Given the description of an element on the screen output the (x, y) to click on. 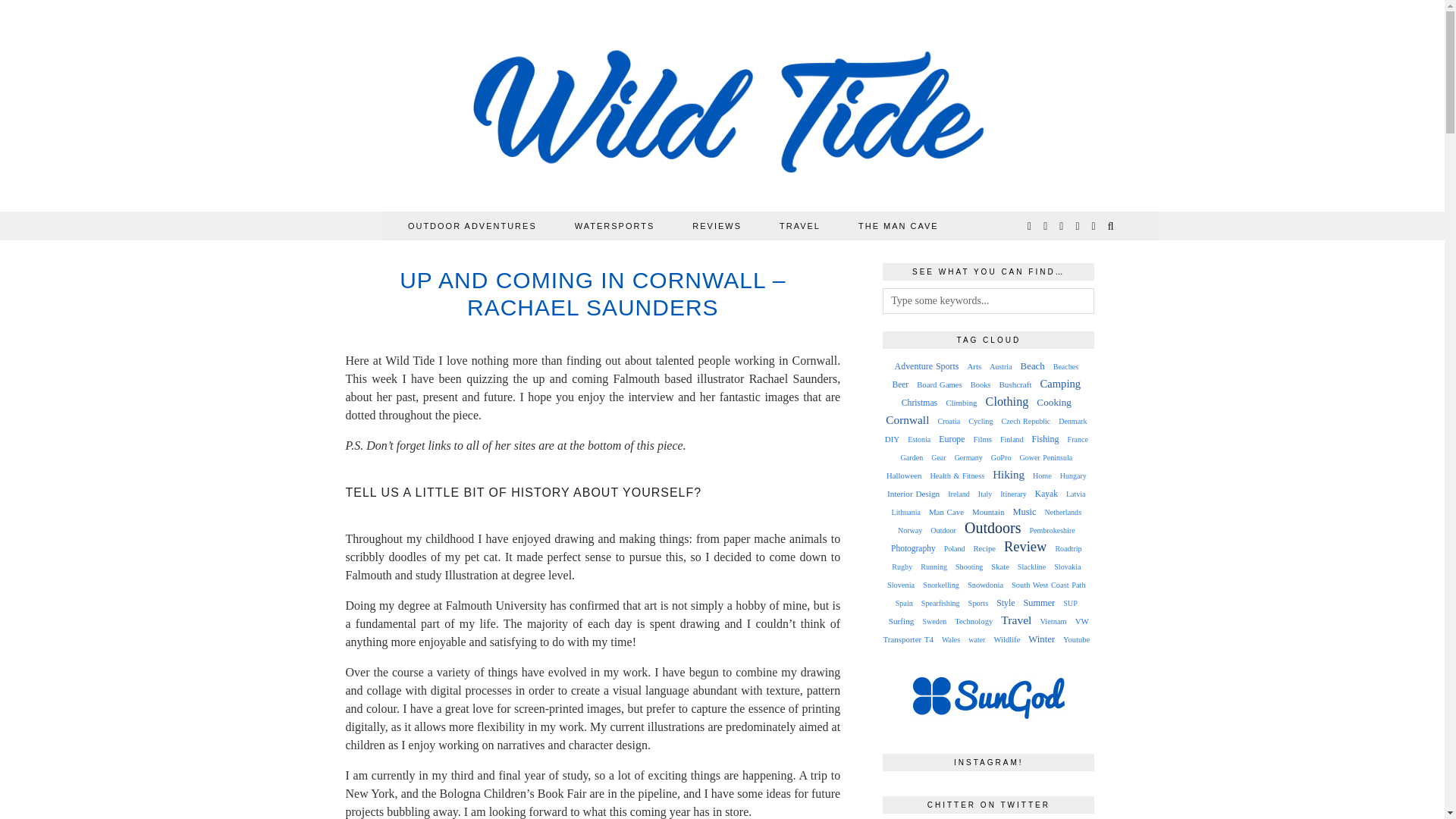
instagram (1045, 225)
facebook (1061, 225)
bloglovin (1077, 225)
Wild Tide (722, 108)
twitter (1029, 225)
